Given the description of an element on the screen output the (x, y) to click on. 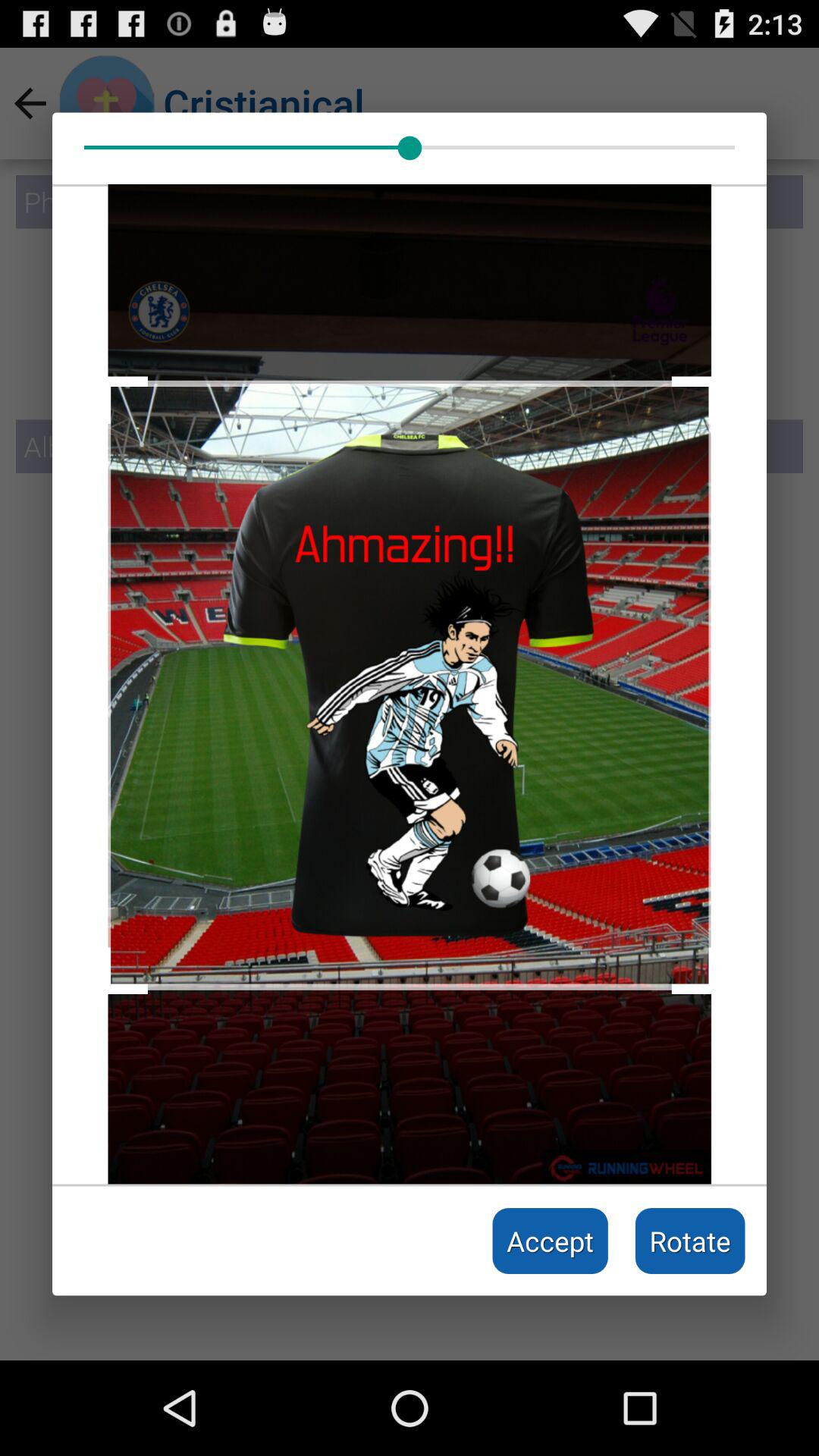
launch the item to the left of rotate icon (549, 1240)
